Given the description of an element on the screen output the (x, y) to click on. 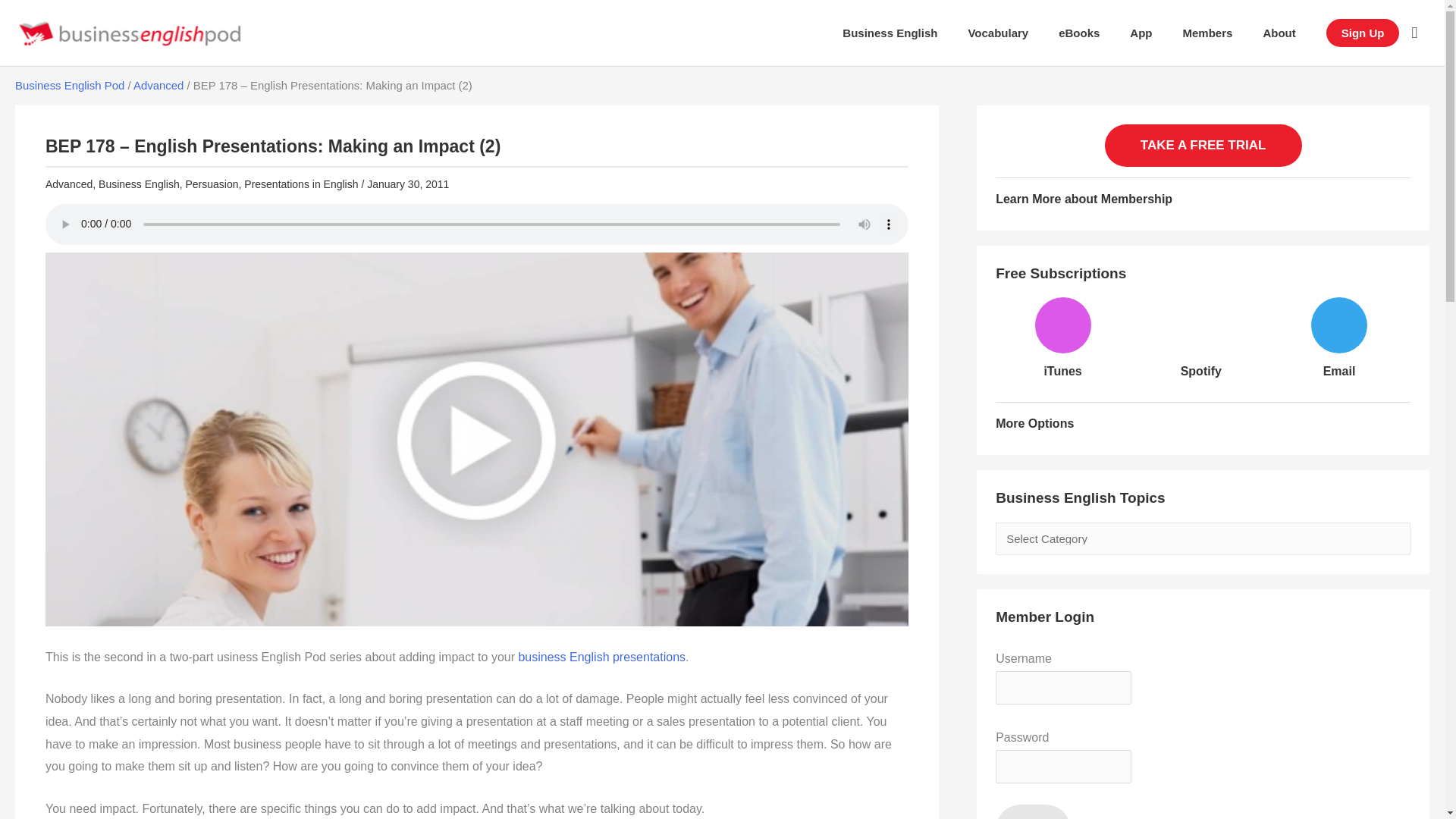
Business English Lessons (889, 33)
Business English (889, 33)
Vocabulary (997, 33)
Business English Vocabulary (997, 33)
Business English eBooks (1079, 33)
business English presentation (601, 656)
Login (1032, 811)
eBooks (1079, 33)
About Business English Pod (1278, 33)
Go to the Advanced category archives. (158, 84)
